Given the description of an element on the screen output the (x, y) to click on. 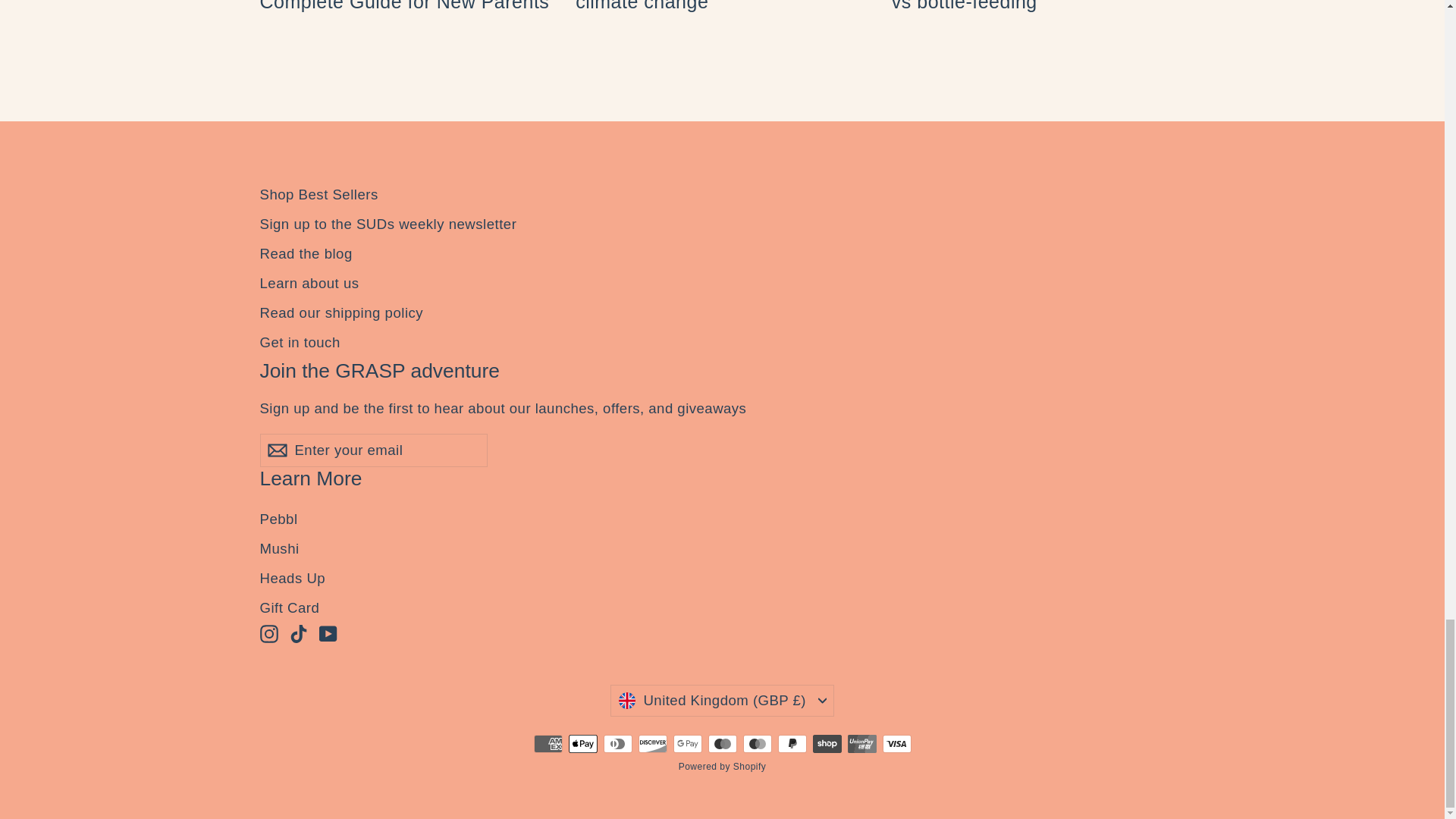
GRASP LONDON on TikTok (298, 633)
Google Pay (686, 743)
Diners Club (617, 743)
Mastercard (756, 743)
GRASP LONDON on YouTube (327, 633)
Apple Pay (582, 743)
American Express (548, 743)
Maestro (721, 743)
Discover (652, 743)
GRASP LONDON on Instagram (268, 633)
